Given the description of an element on the screen output the (x, y) to click on. 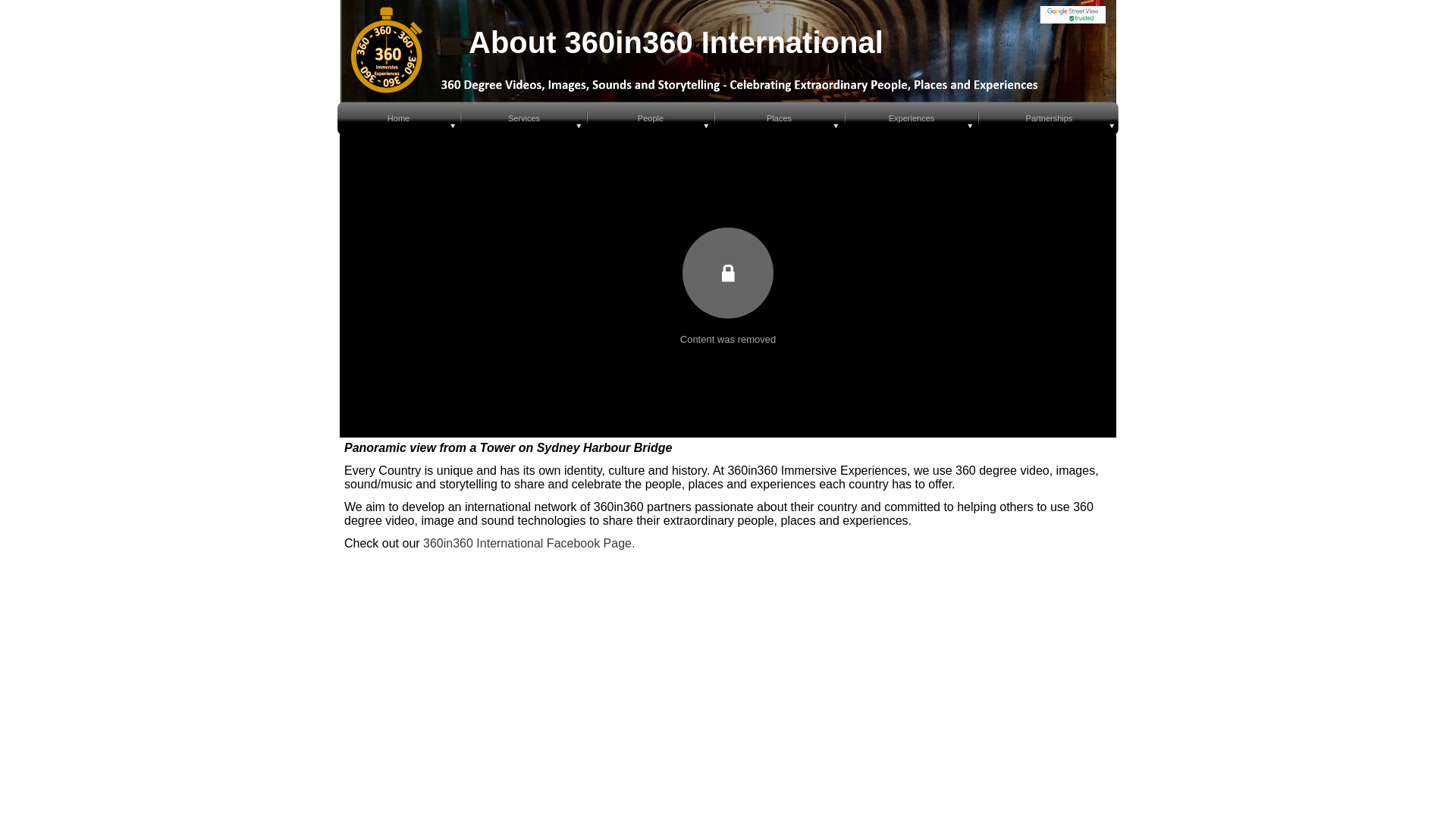
Services (523, 116)
360in360 International Facebook Page. (528, 543)
People (650, 116)
Partnerships (1048, 116)
Places (778, 116)
Home (398, 116)
Experiences (911, 116)
